Given the description of an element on the screen output the (x, y) to click on. 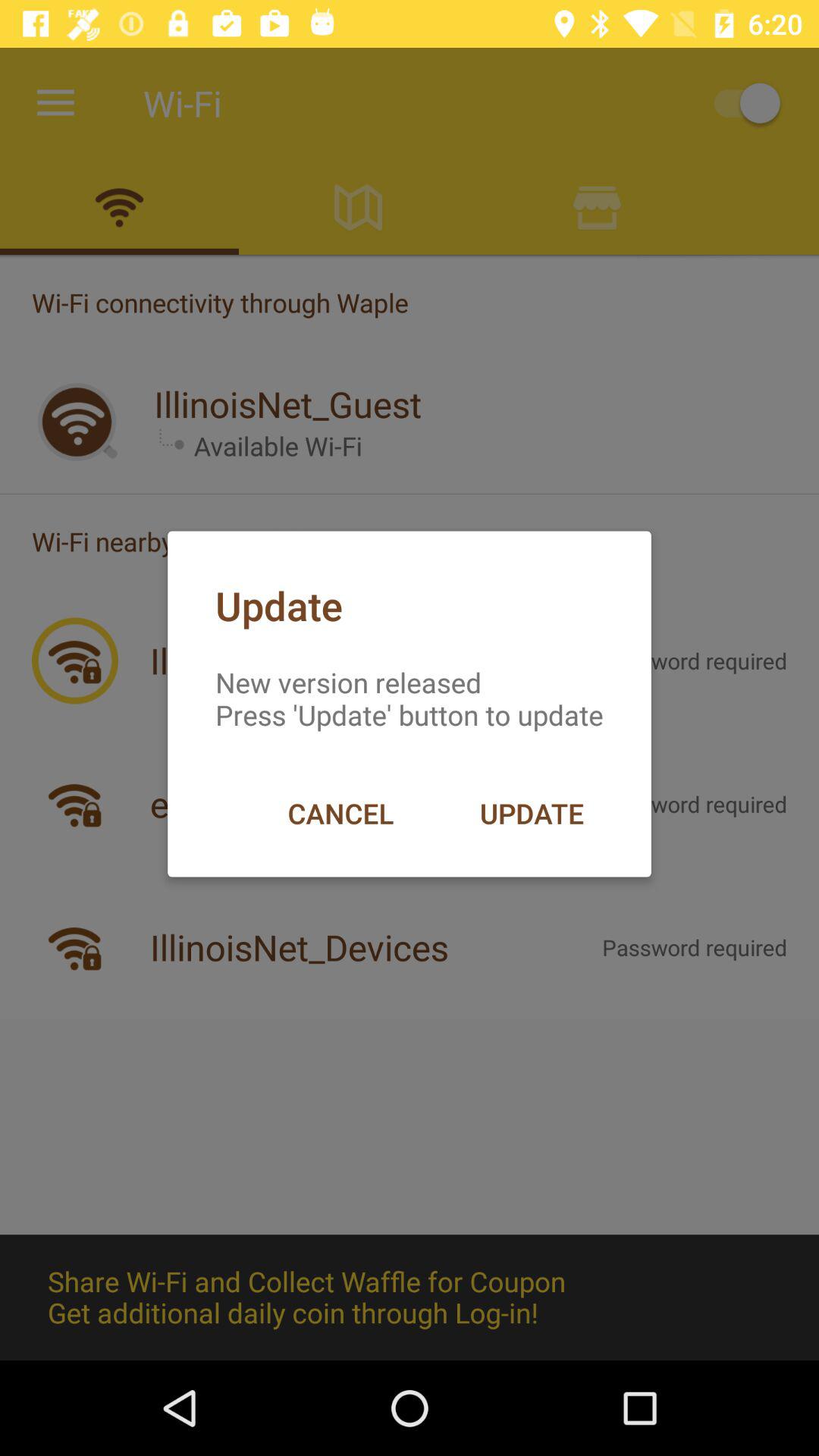
select item below new version released (340, 813)
